Given the description of an element on the screen output the (x, y) to click on. 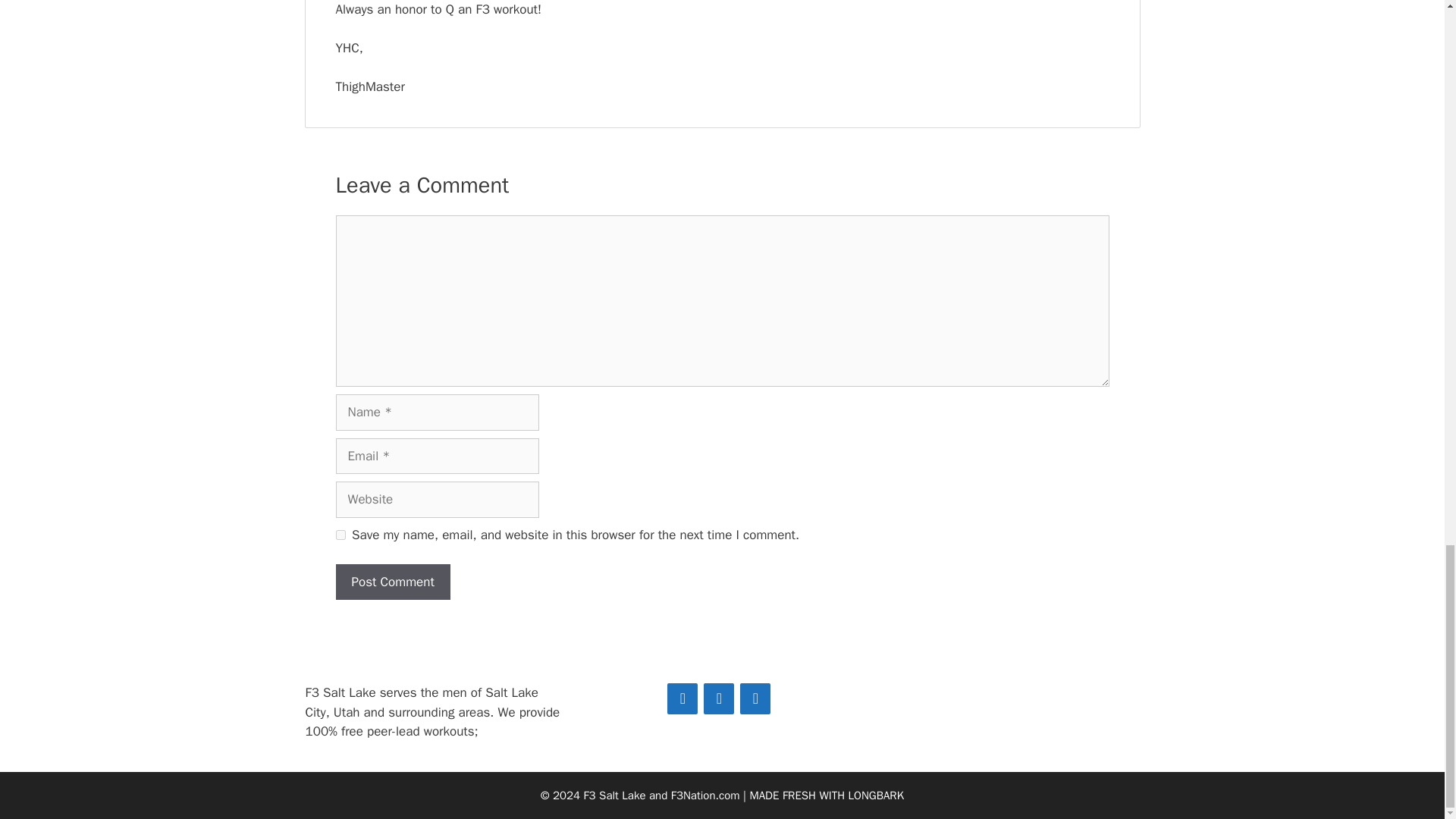
Twitter (718, 698)
Post Comment (391, 582)
yes (339, 534)
Instagram (754, 698)
Facebook (681, 698)
